Given the description of an element on the screen output the (x, y) to click on. 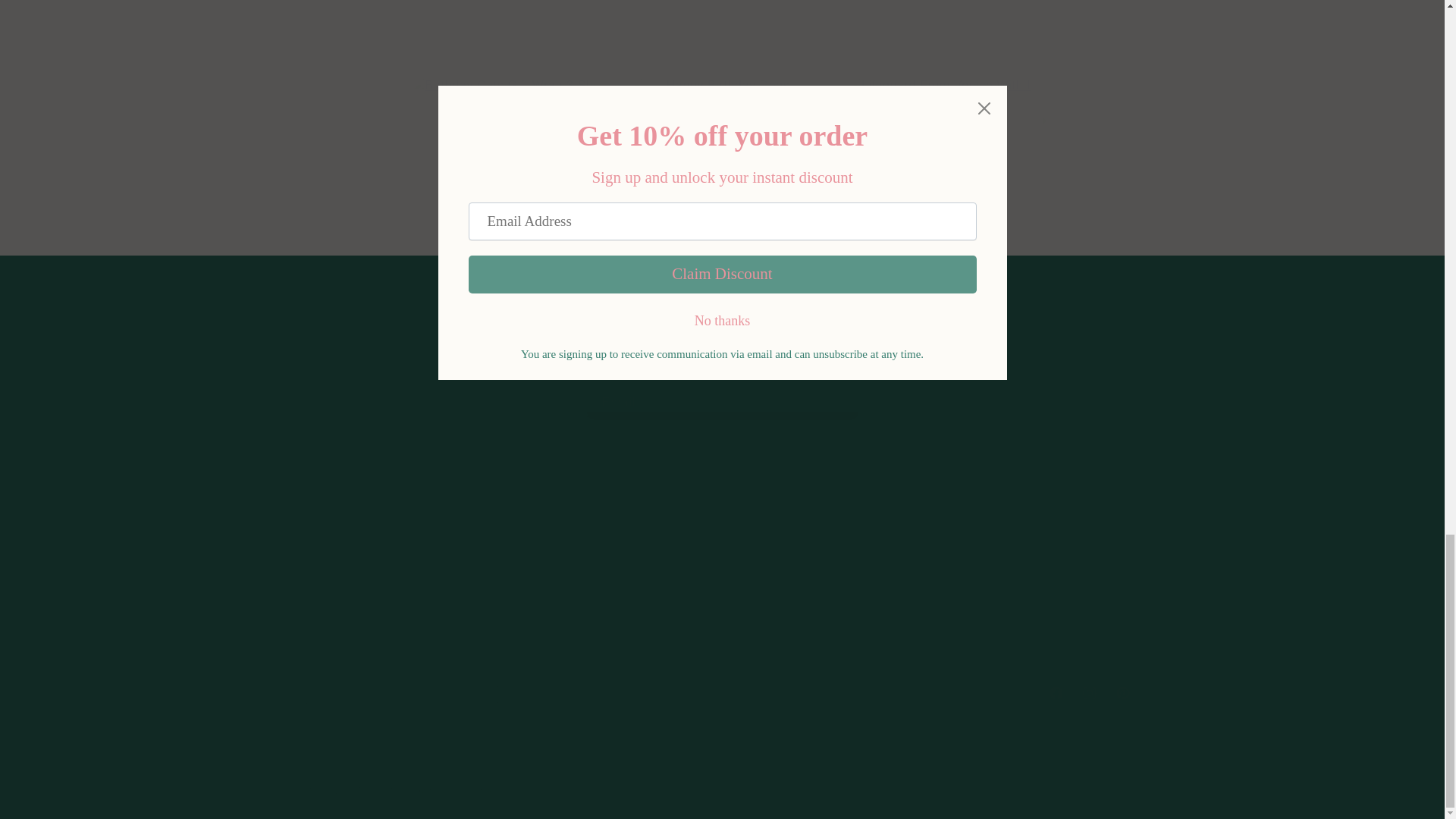
LET'S BE PEN PALS (721, 317)
Email (722, 402)
